Given the description of an element on the screen output the (x, y) to click on. 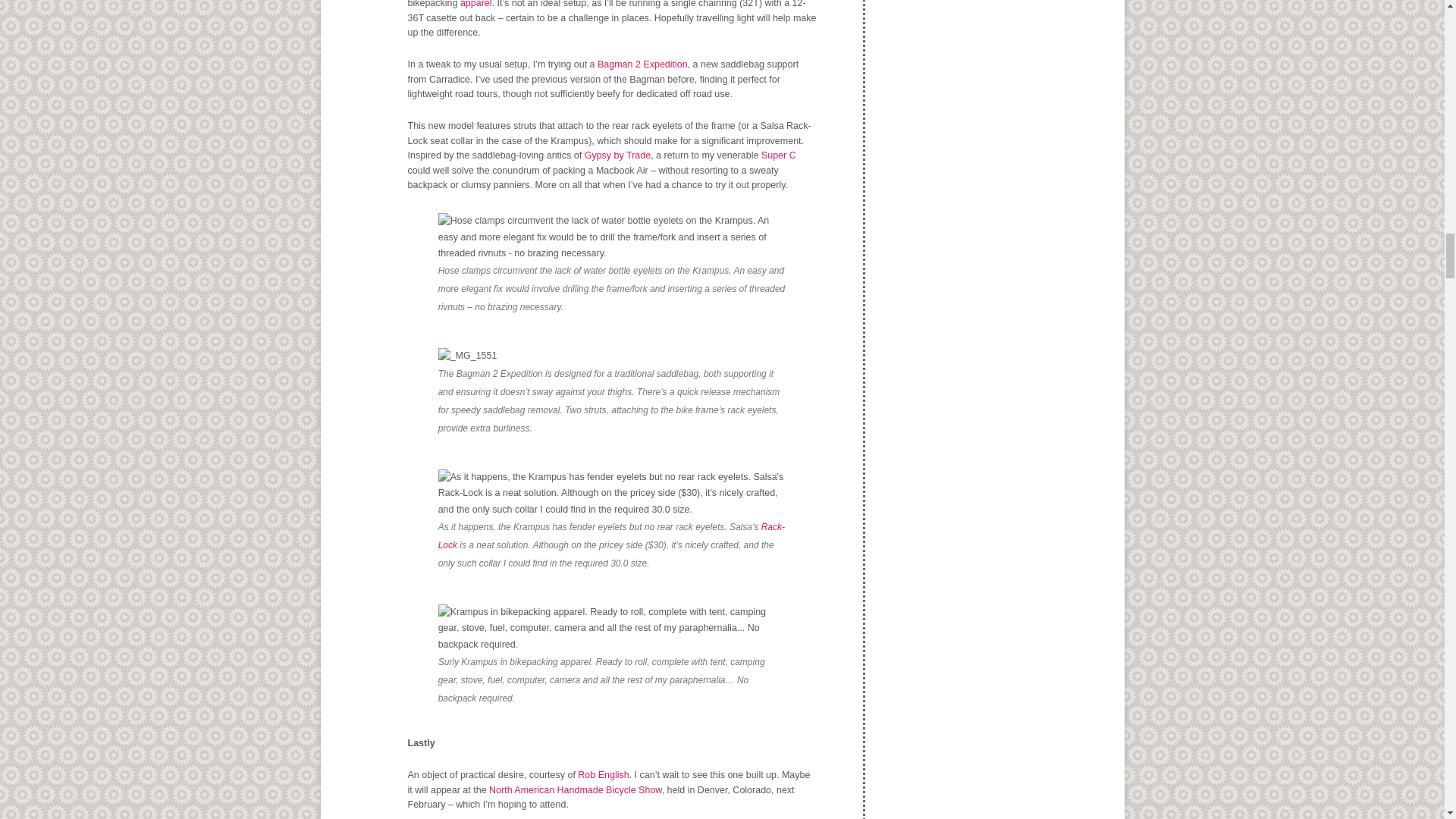
North American Handmade Bicycle Show (575, 789)
Rack-Lock (611, 535)
Bagman 2 Expedition (641, 63)
Gypsy by Trade (617, 154)
apparel (476, 4)
Super C (778, 154)
Rob English (603, 774)
